Given the description of an element on the screen output the (x, y) to click on. 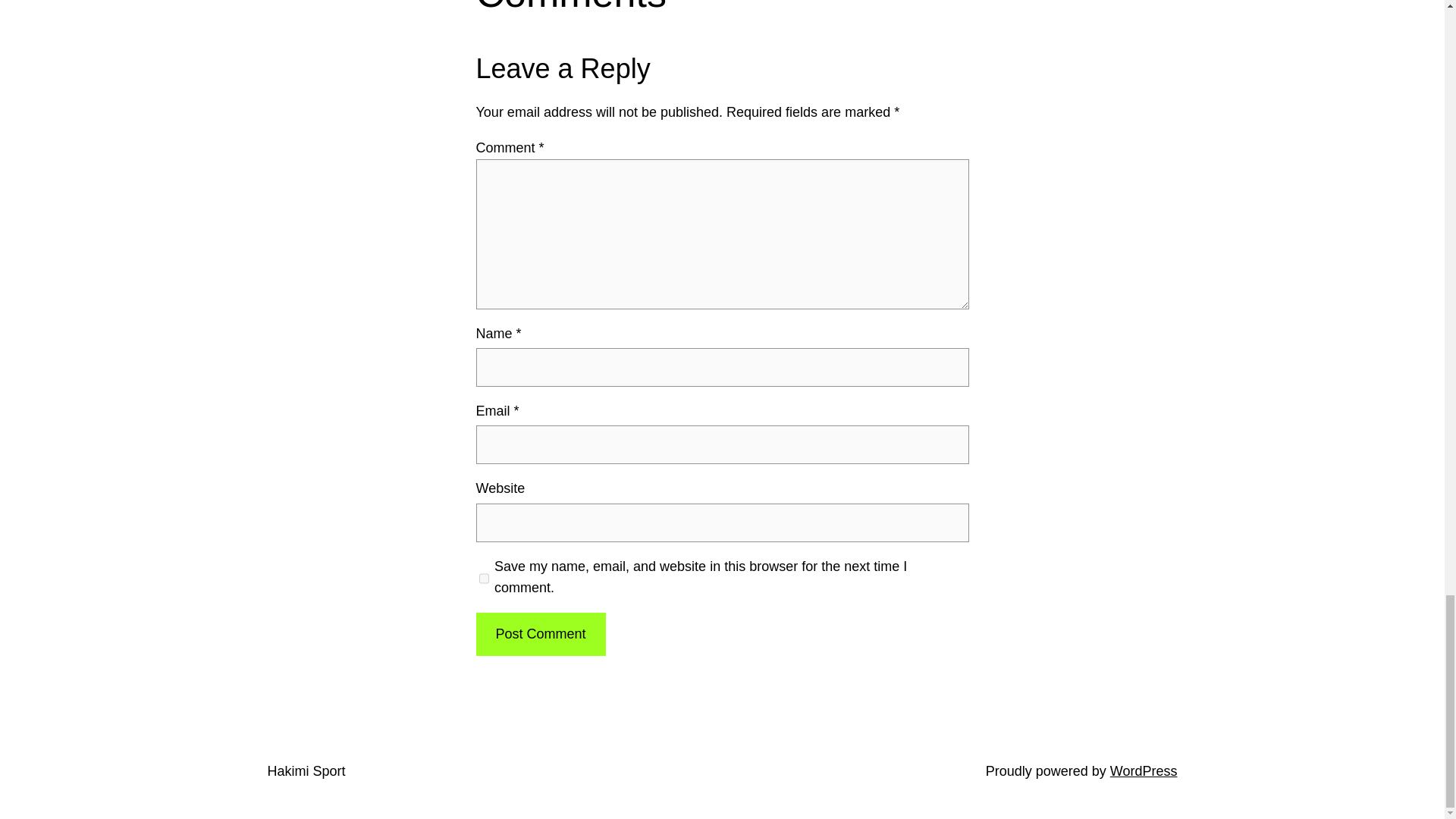
Post Comment (540, 634)
Post Comment (540, 634)
Hakimi Sport (305, 770)
WordPress (1143, 770)
